Given the description of an element on the screen output the (x, y) to click on. 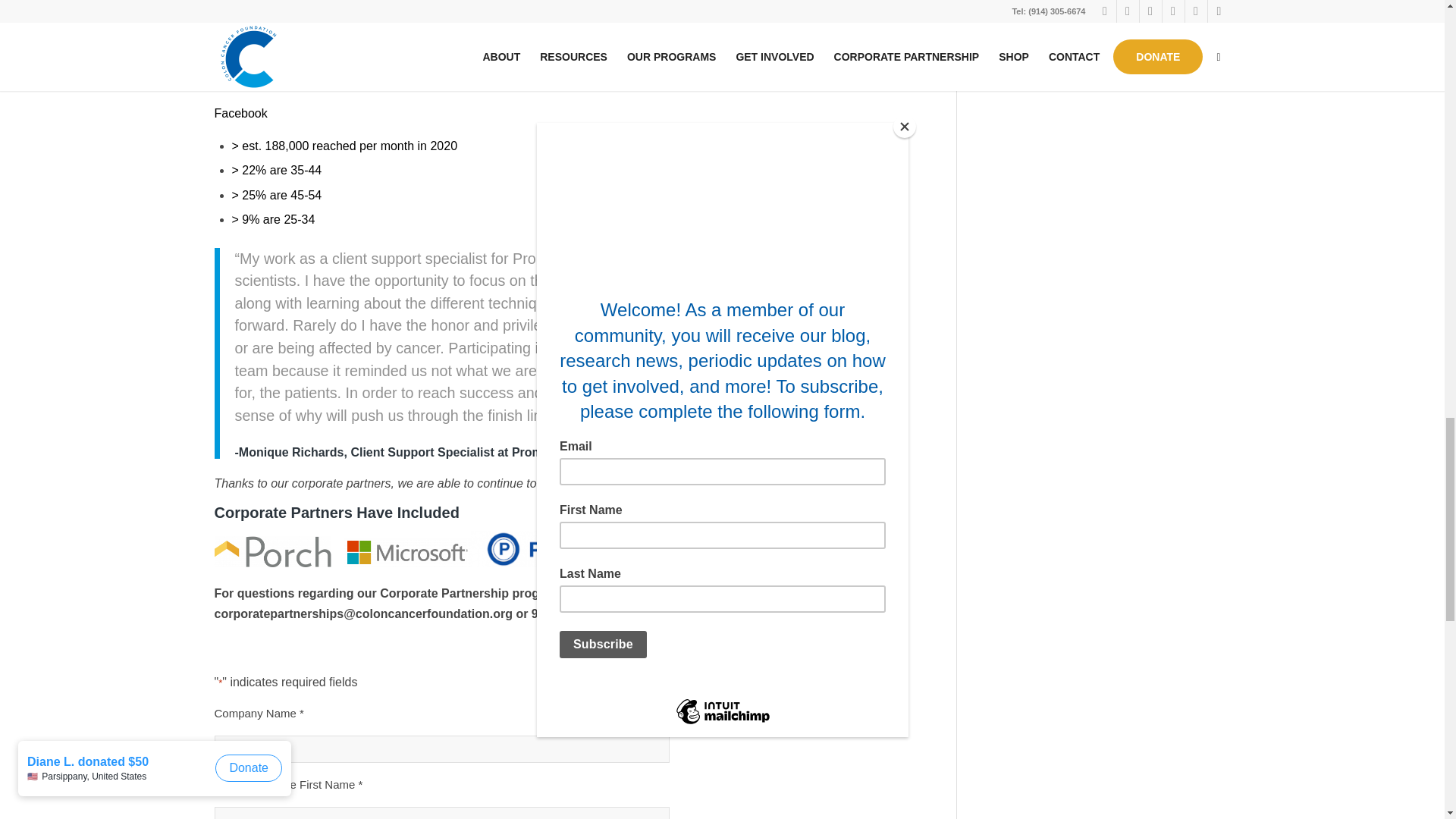
Page 2 (565, 483)
